Given the description of an element on the screen output the (x, y) to click on. 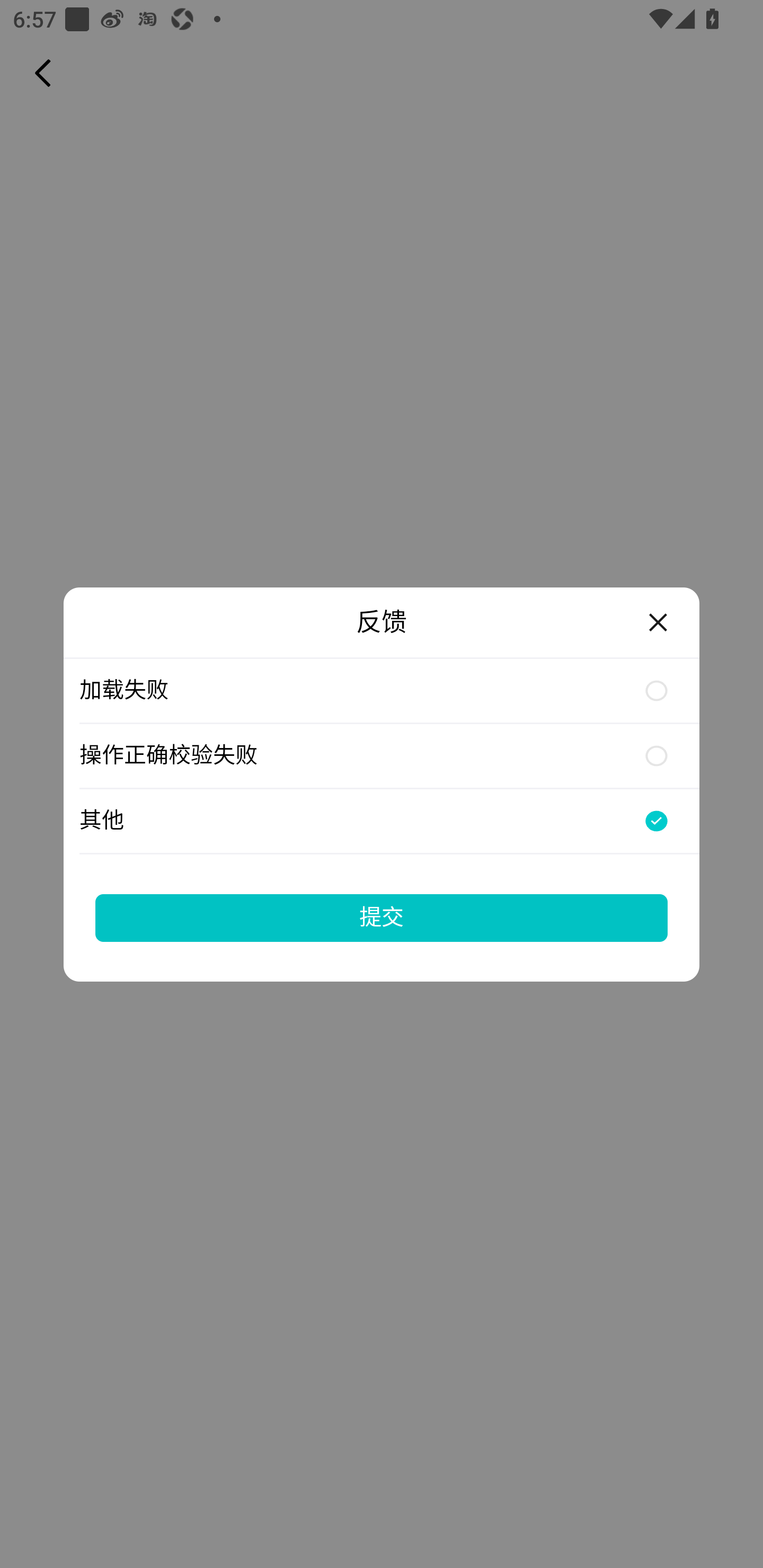
提交 (381, 917)
